Given the description of an element on the screen output the (x, y) to click on. 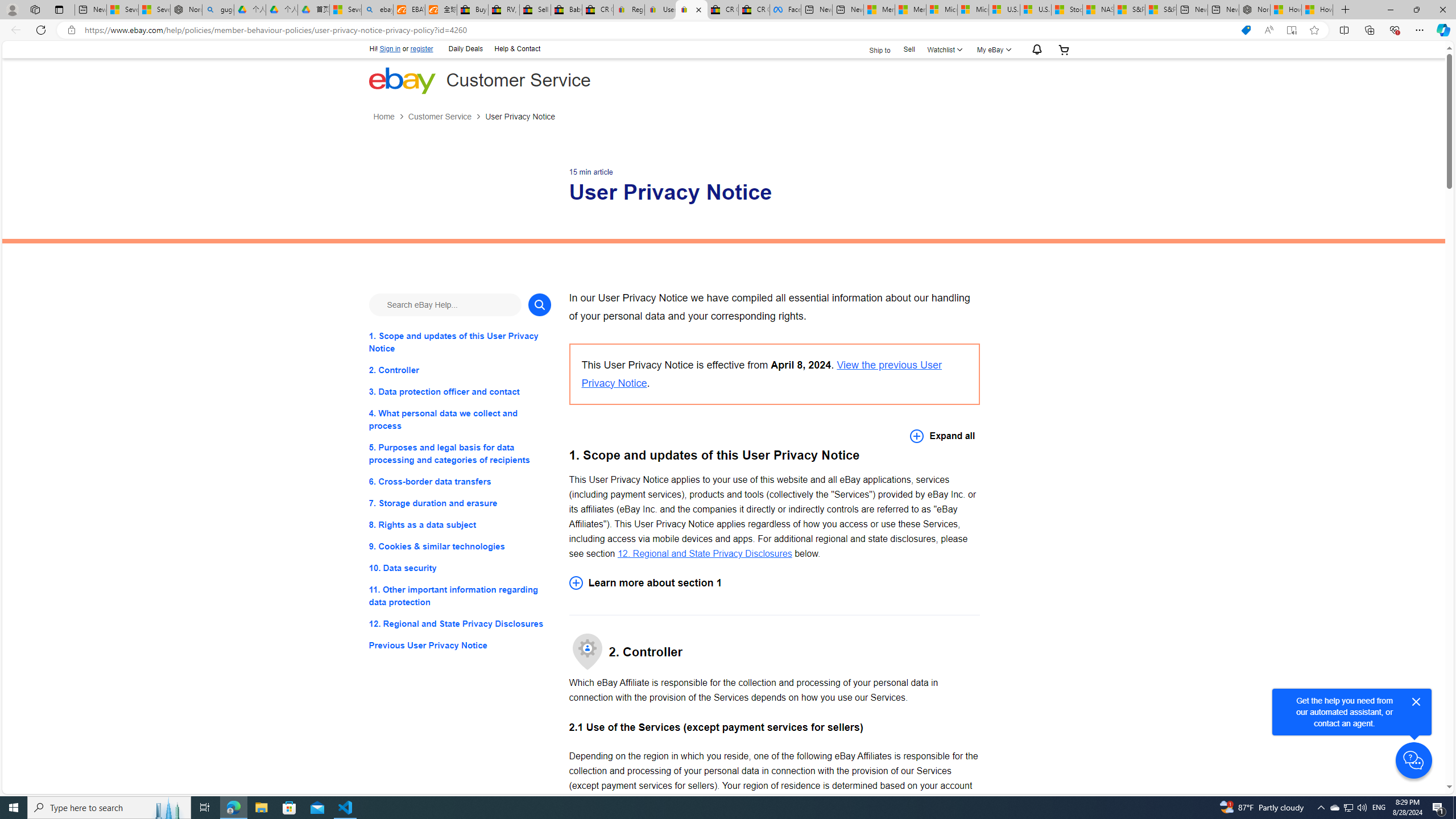
9. Cookies & similar technologies (459, 546)
12. Regional and State Privacy Disclosures (704, 552)
eBay Home (401, 80)
User Privacy Notice | eBay (691, 9)
This site has coupons! Shopping in Microsoft Edge (1245, 29)
Learn more about section 1 (774, 582)
10. Data security (459, 567)
Ship to (872, 48)
Help & Contact (516, 48)
